Given the description of an element on the screen output the (x, y) to click on. 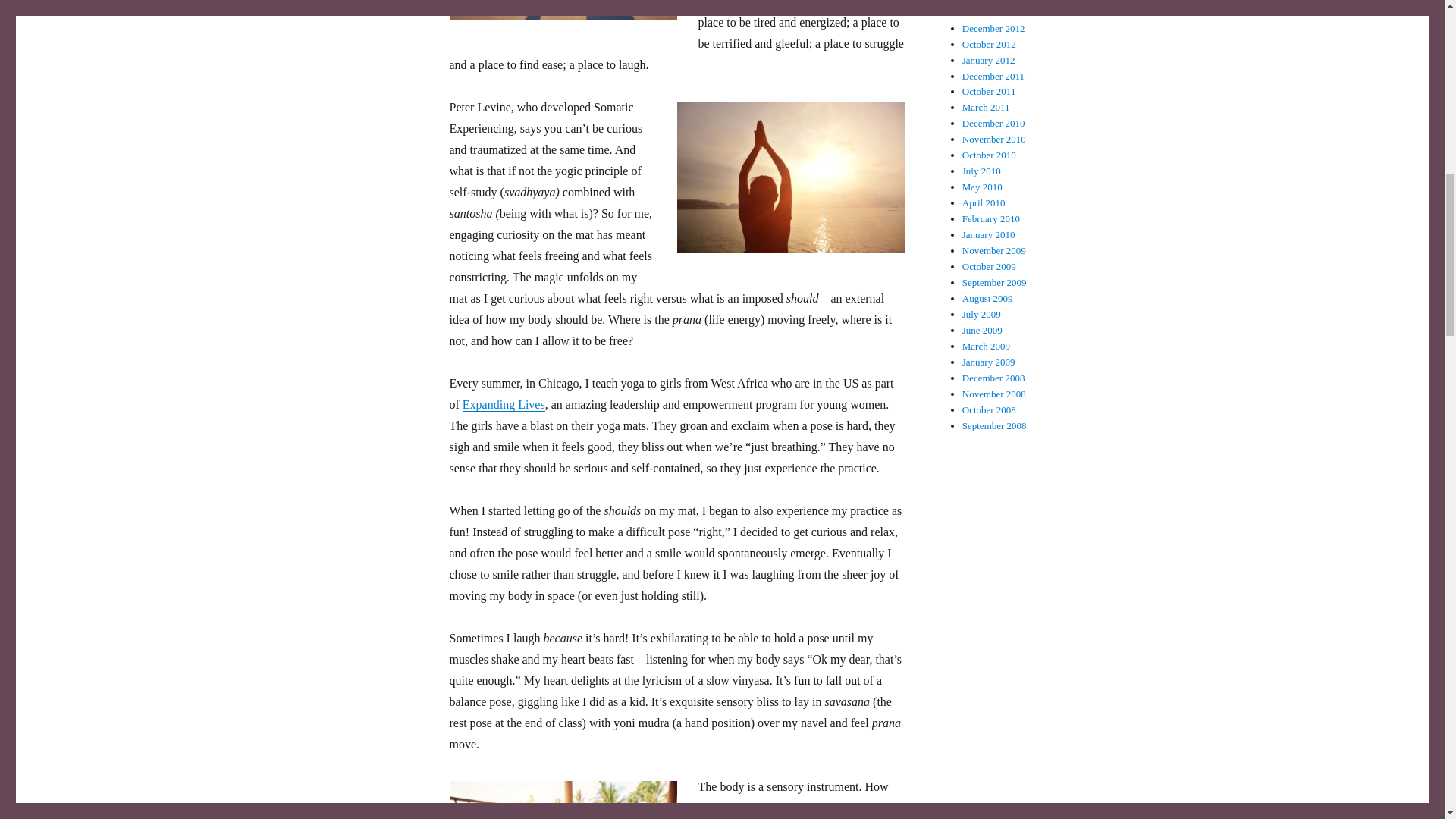
Expanding Lives (503, 404)
